Given the description of an element on the screen output the (x, y) to click on. 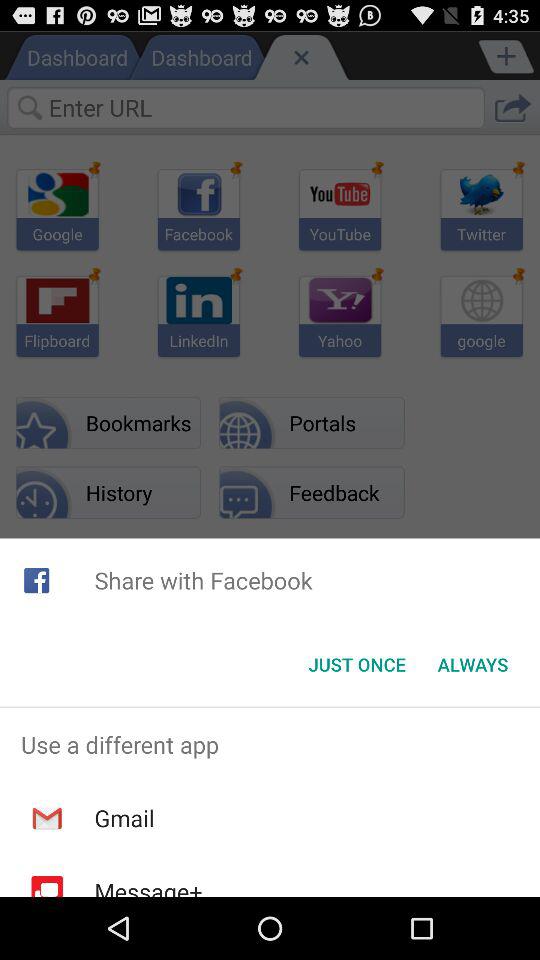
select app above gmail icon (270, 744)
